Given the description of an element on the screen output the (x, y) to click on. 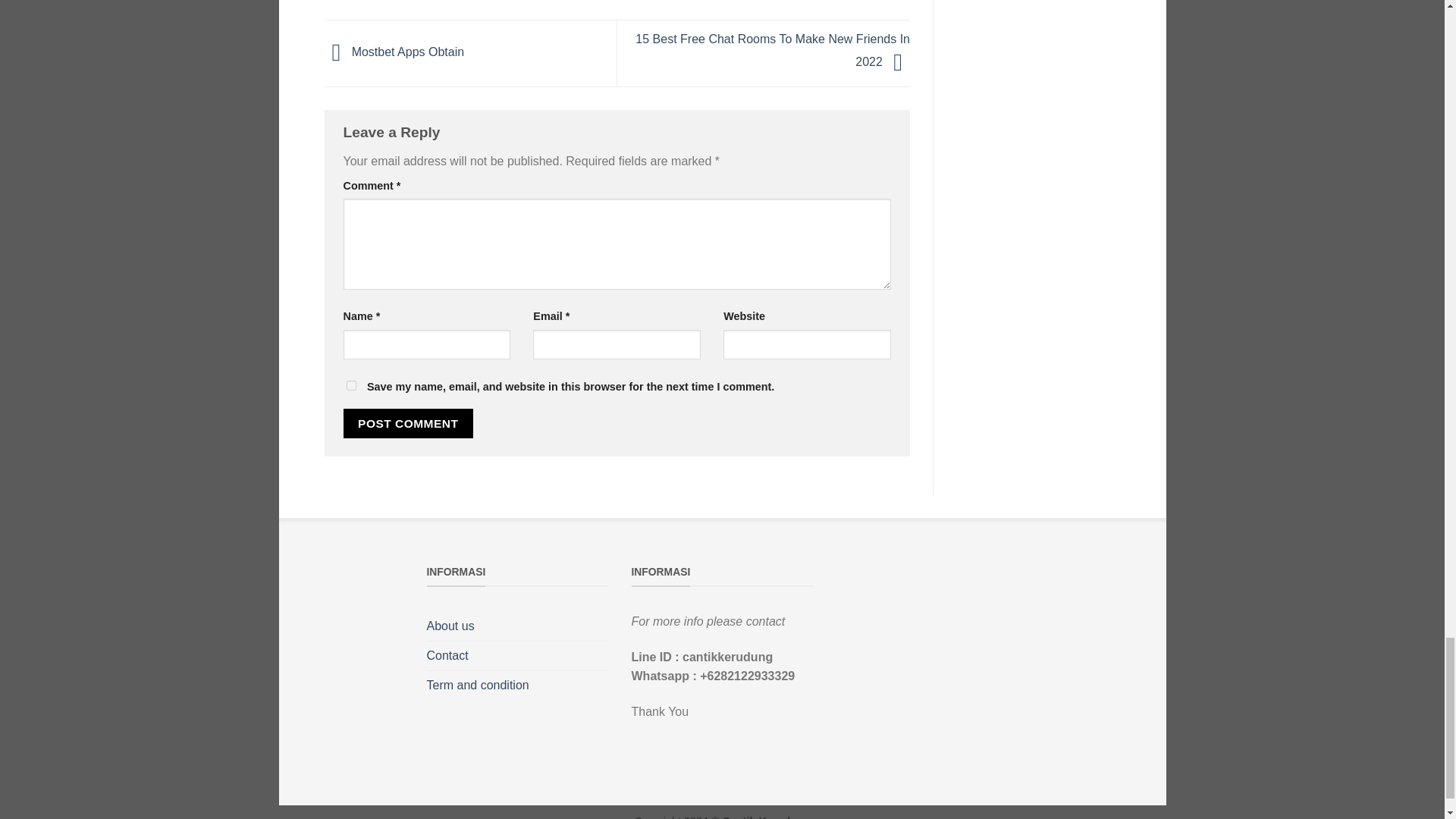
Contact (446, 655)
Mostbet Apps Obtain (394, 51)
Post Comment (407, 423)
Post Comment (407, 423)
yes (350, 385)
Term and condition (477, 685)
About us (450, 625)
